Given the description of an element on the screen output the (x, y) to click on. 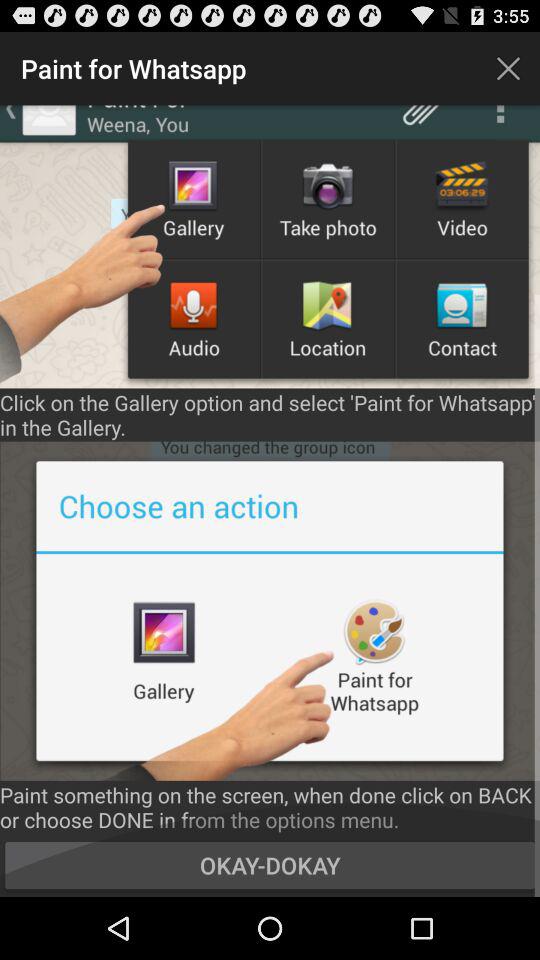
turn on the item at the top right corner (508, 67)
